Given the description of an element on the screen output the (x, y) to click on. 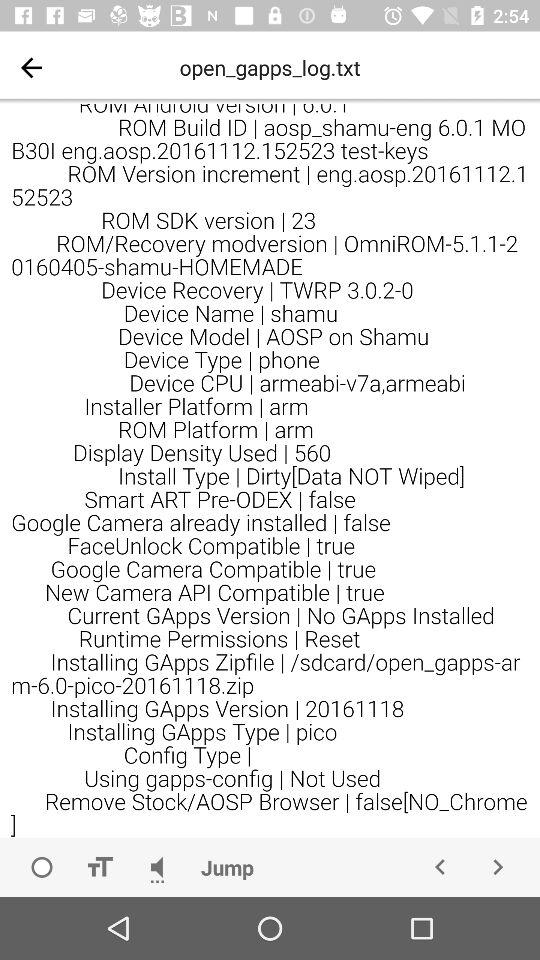
next page (497, 867)
